Given the description of an element on the screen output the (x, y) to click on. 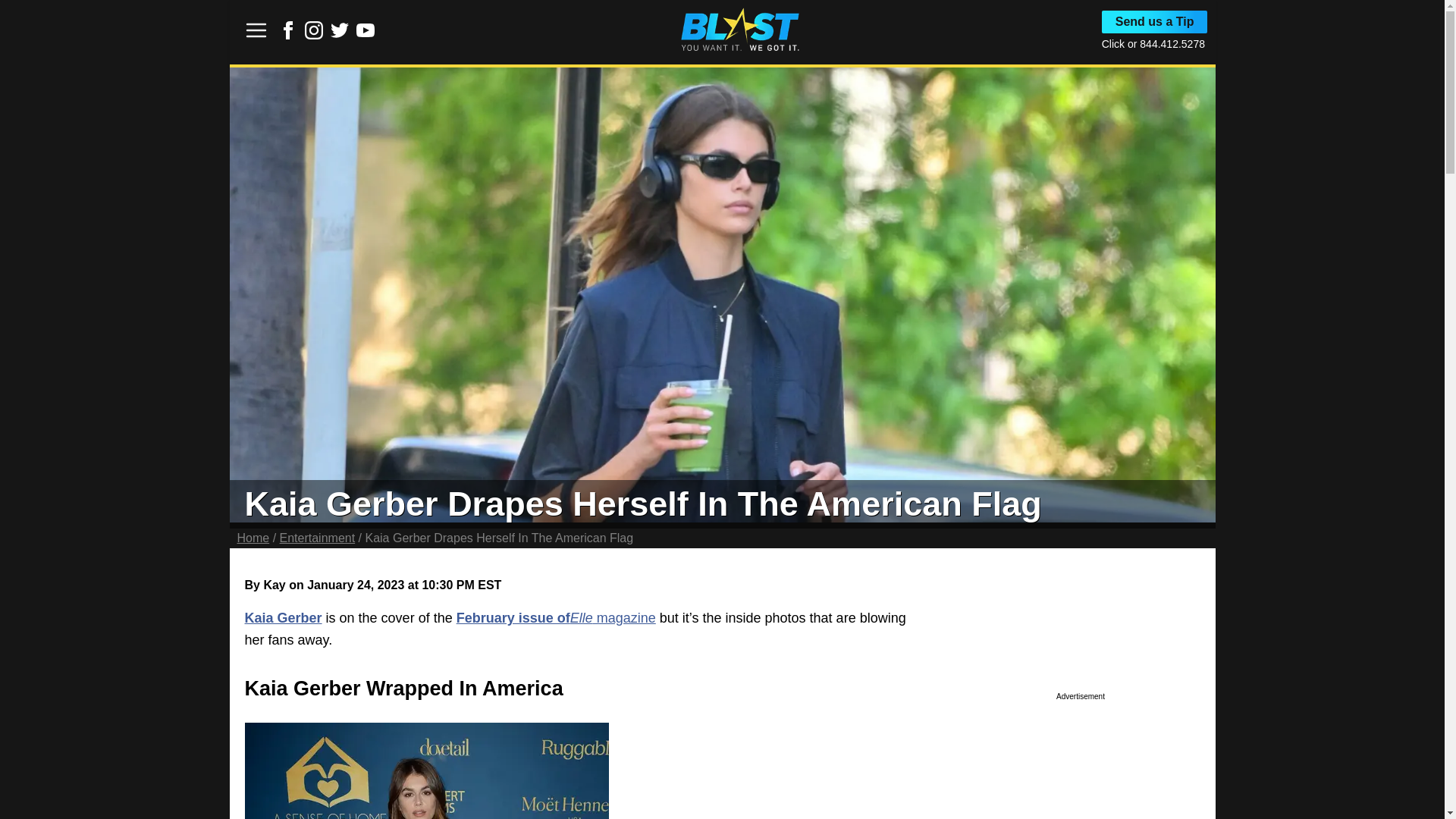
Kaia Gerber (282, 617)
Link to Youtube (365, 30)
Link to Facebook (288, 34)
Link to Instagram (313, 34)
Elle (581, 617)
Click or 844.412.5278 (1153, 43)
Link to Twitter (339, 30)
Home (252, 537)
February issue of (513, 617)
Link to Twitter (339, 34)
